Given the description of an element on the screen output the (x, y) to click on. 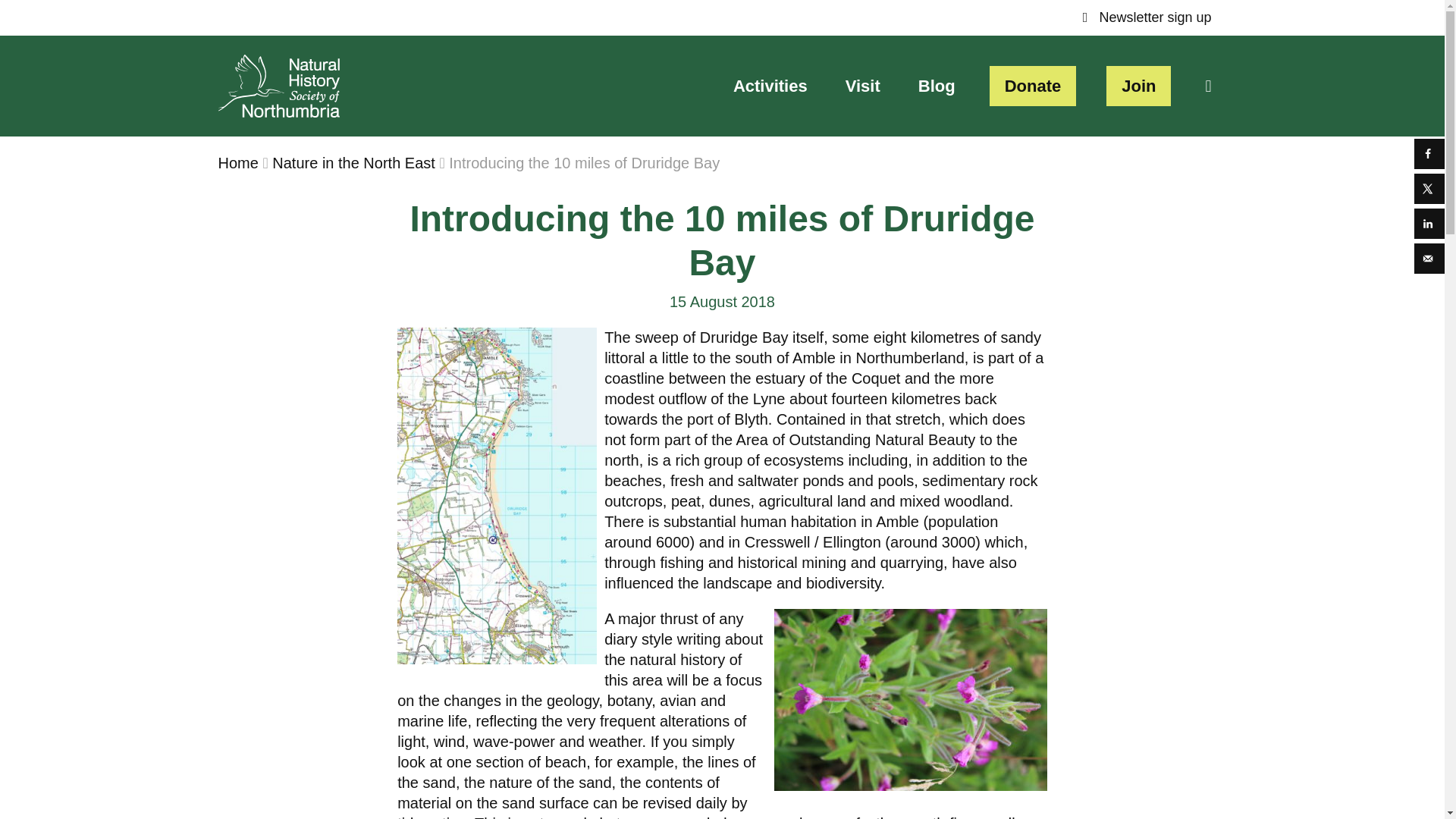
Visit (862, 86)
Blog (936, 86)
 Newsletter sign up (1147, 17)
Newsletter sign up (1147, 17)
Activities (769, 86)
Visit (862, 86)
Activities (769, 86)
